Given the description of an element on the screen output the (x, y) to click on. 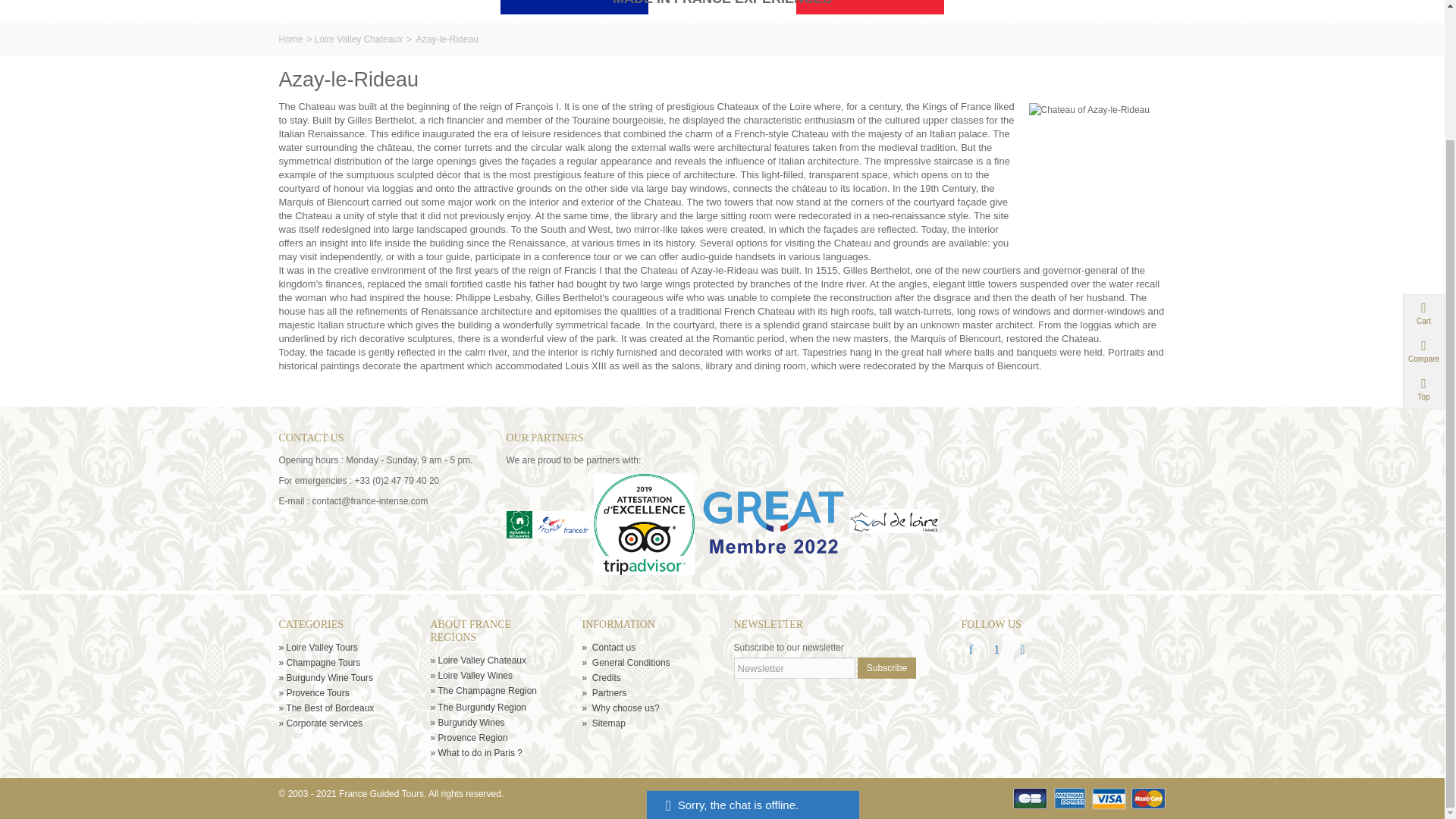
A propos (494, 700)
Return to Home (290, 39)
Chateau of Azay-le-Rideau (1092, 163)
